Given the description of an element on the screen output the (x, y) to click on. 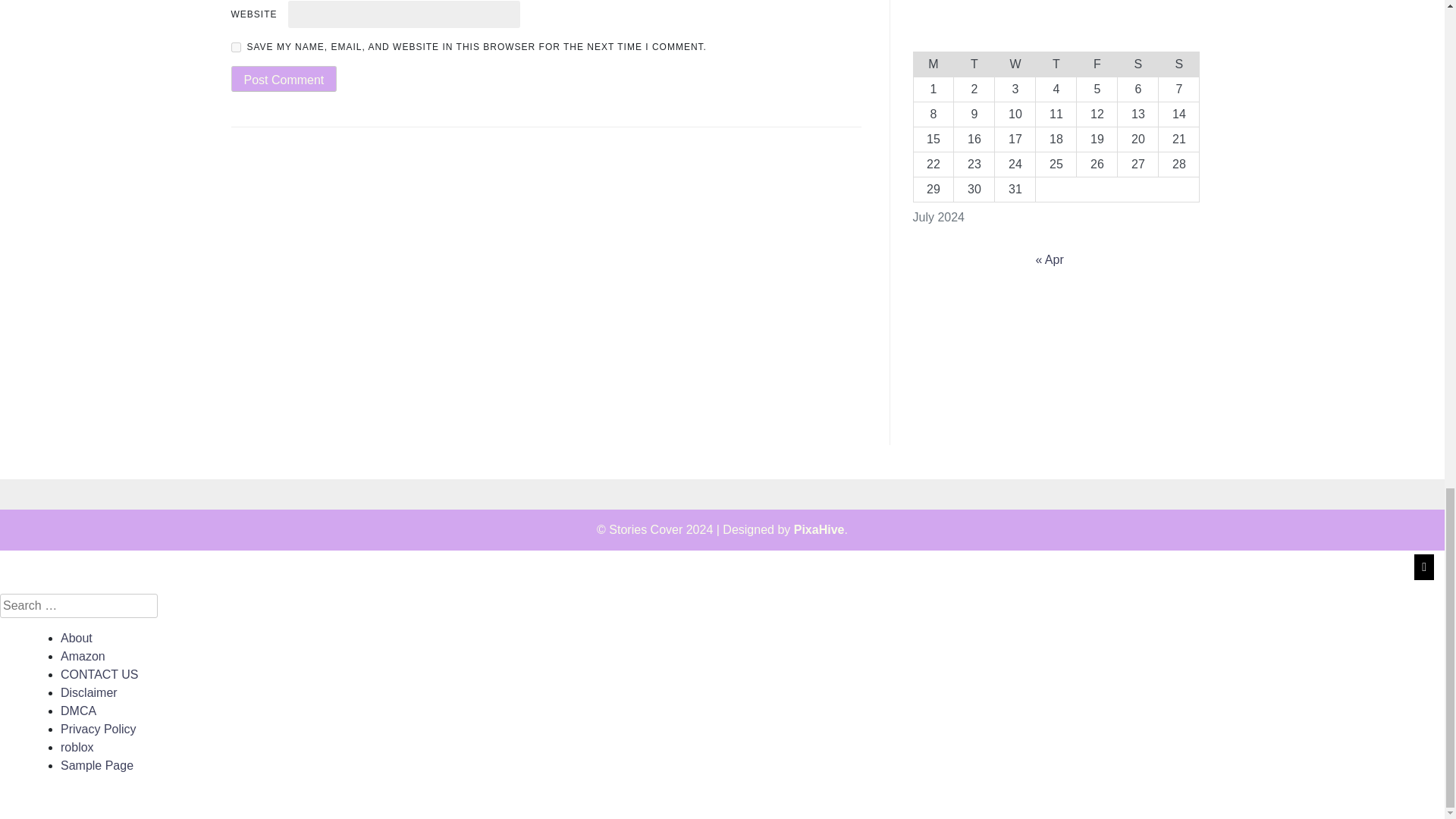
Sunday (1178, 63)
Wednesday (1014, 63)
Monday (932, 63)
Saturday (1138, 63)
Tuesday (973, 63)
yes (235, 47)
Friday (1097, 63)
Thursday (1056, 63)
Post Comment (283, 78)
